Given the description of an element on the screen output the (x, y) to click on. 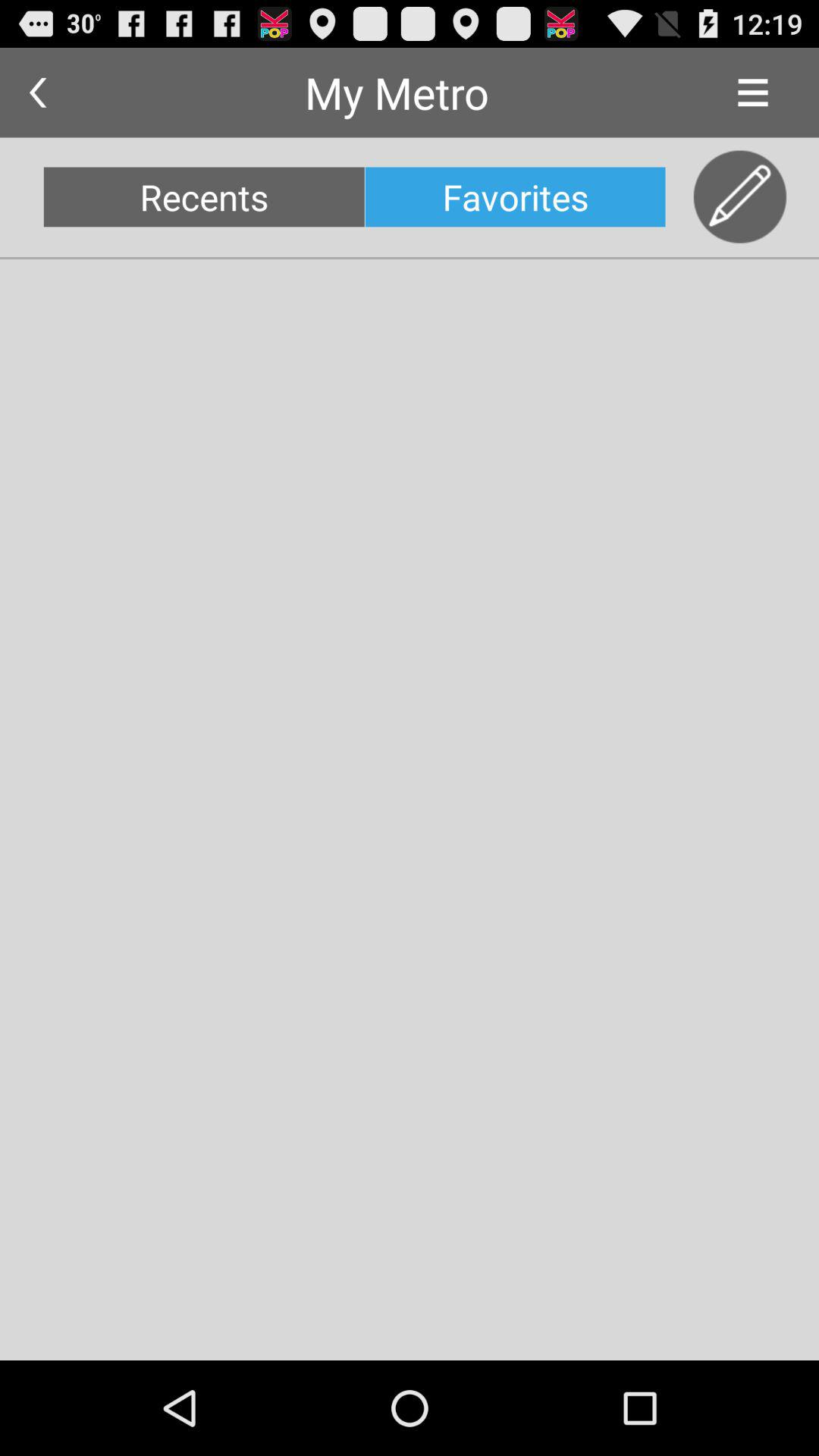
launch the item above recents item (37, 92)
